Given the description of an element on the screen output the (x, y) to click on. 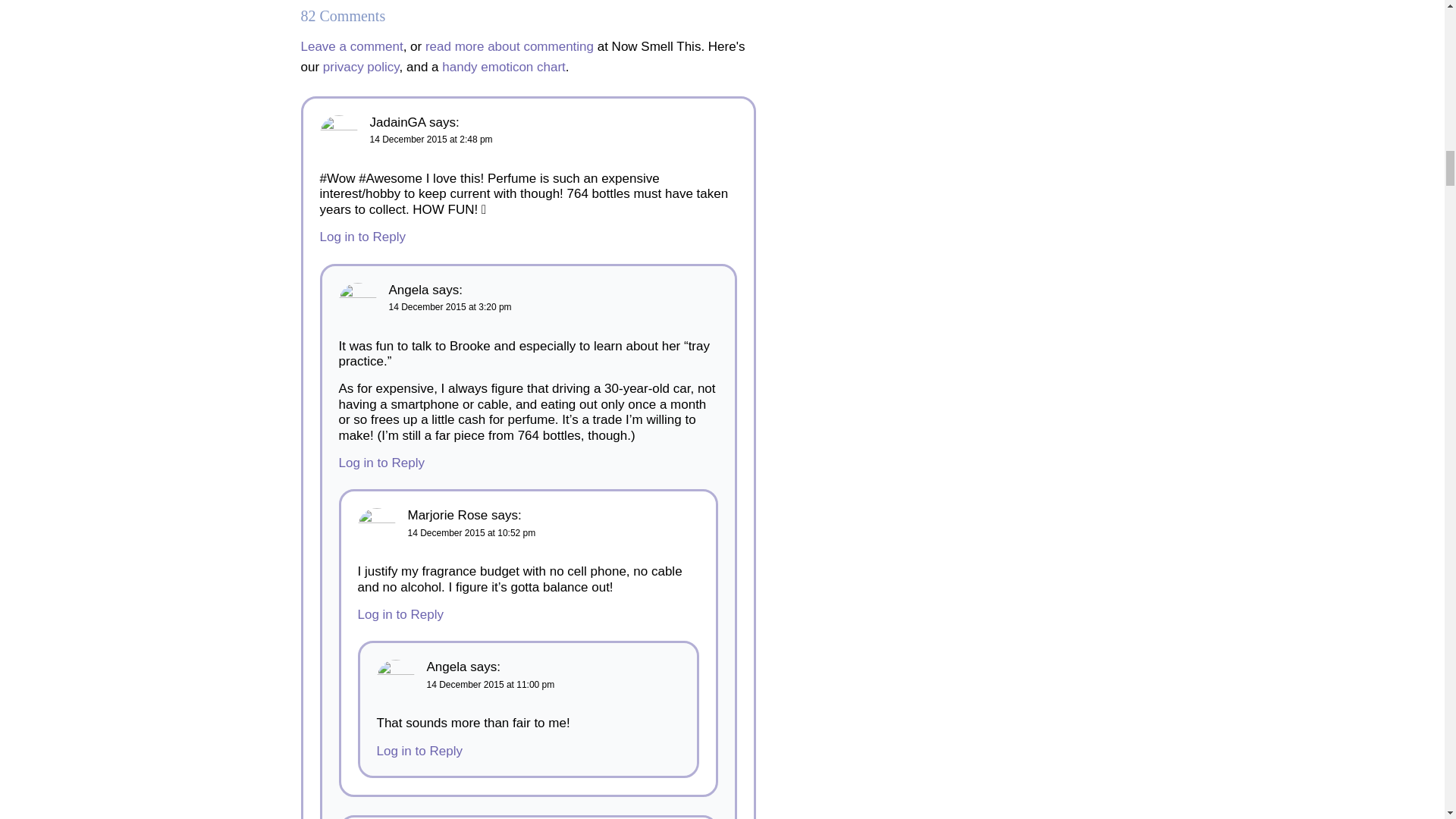
Log in to Reply (380, 462)
Log in to Reply (363, 237)
read more about commenting (509, 46)
handy emoticon chart (504, 66)
Leave a comment (351, 46)
privacy policy (360, 66)
Log in to Reply (401, 614)
Log in to Reply (418, 750)
